Given the description of an element on the screen output the (x, y) to click on. 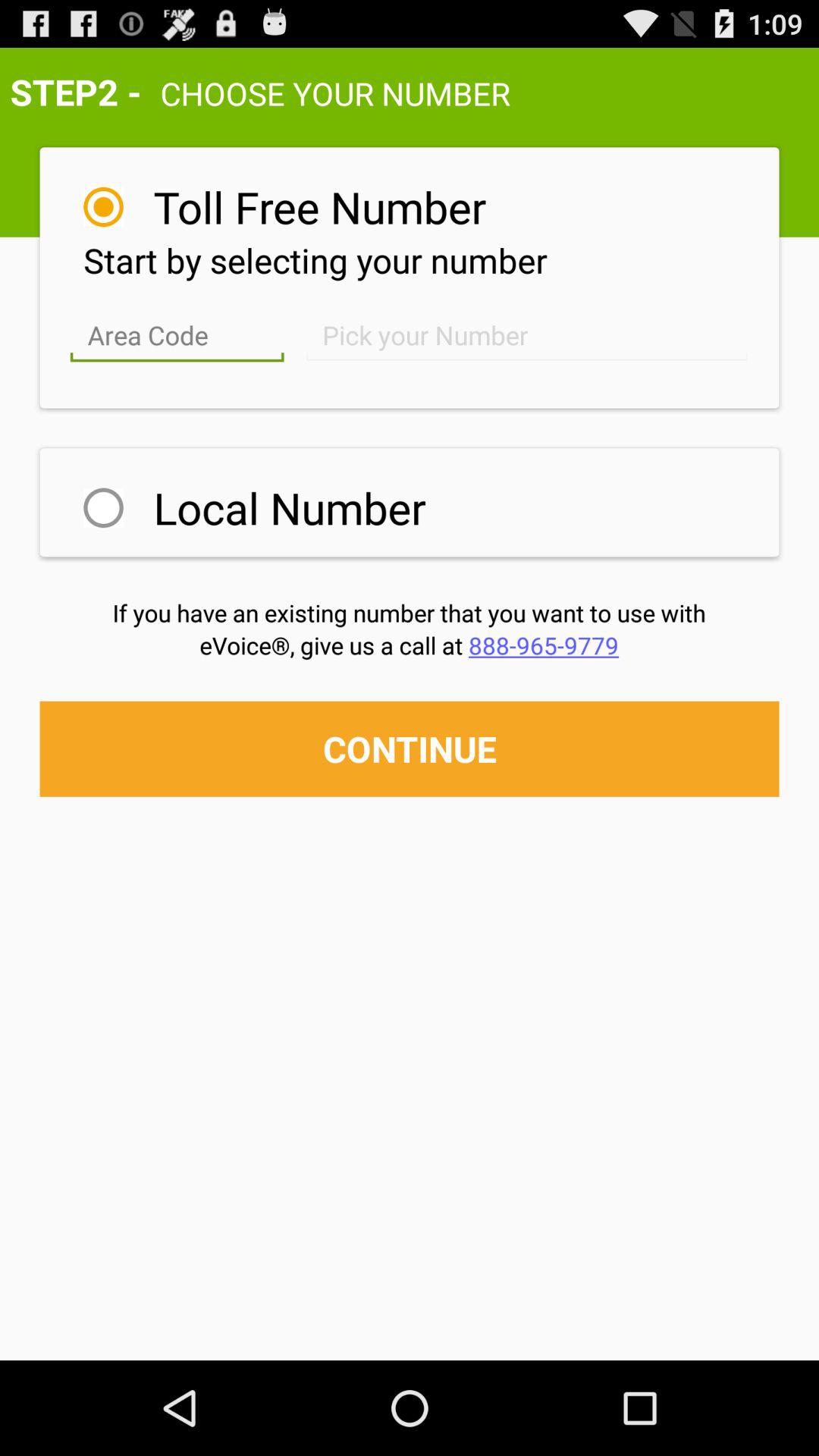
launch the local number item (289, 507)
